Given the description of an element on the screen output the (x, y) to click on. 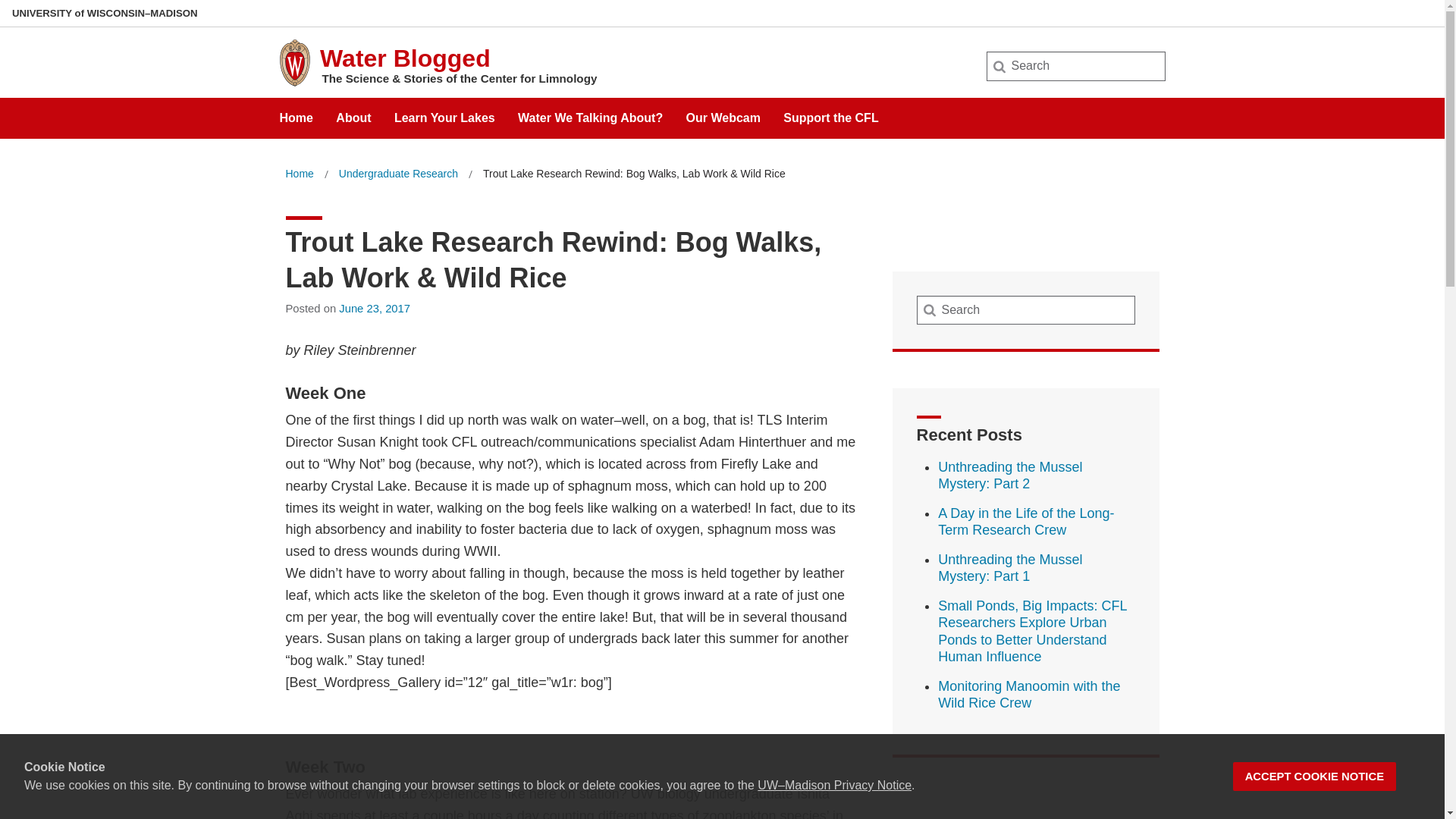
Undergraduate Research (398, 173)
Support the CFL (830, 112)
June 23, 2017 (374, 308)
Learn Your Lakes (444, 112)
Home (299, 173)
Monitoring Manoomin with the Wild Rice Crew (1028, 694)
Water Blogged (405, 58)
Unthreading the Mussel Mystery: Part 1 (1009, 568)
Water We Talking About? (590, 112)
Home (299, 173)
